Given the description of an element on the screen output the (x, y) to click on. 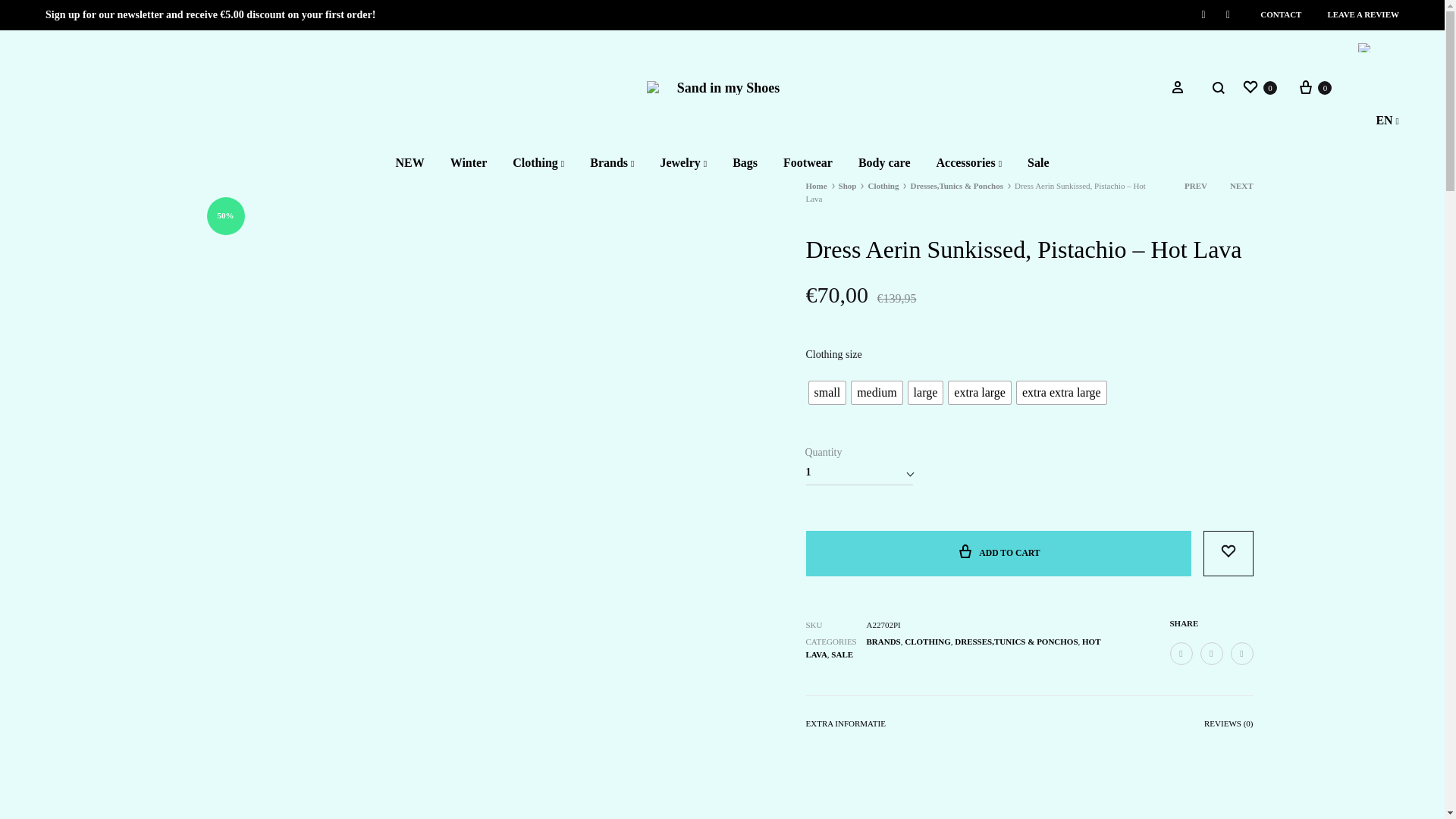
0 (1258, 86)
NEW (408, 162)
CONTACT (1280, 14)
Winter (468, 162)
small (826, 392)
extra large (979, 392)
English (1364, 47)
0 (1314, 86)
Brands (611, 162)
medium (876, 392)
